Given the description of an element on the screen output the (x, y) to click on. 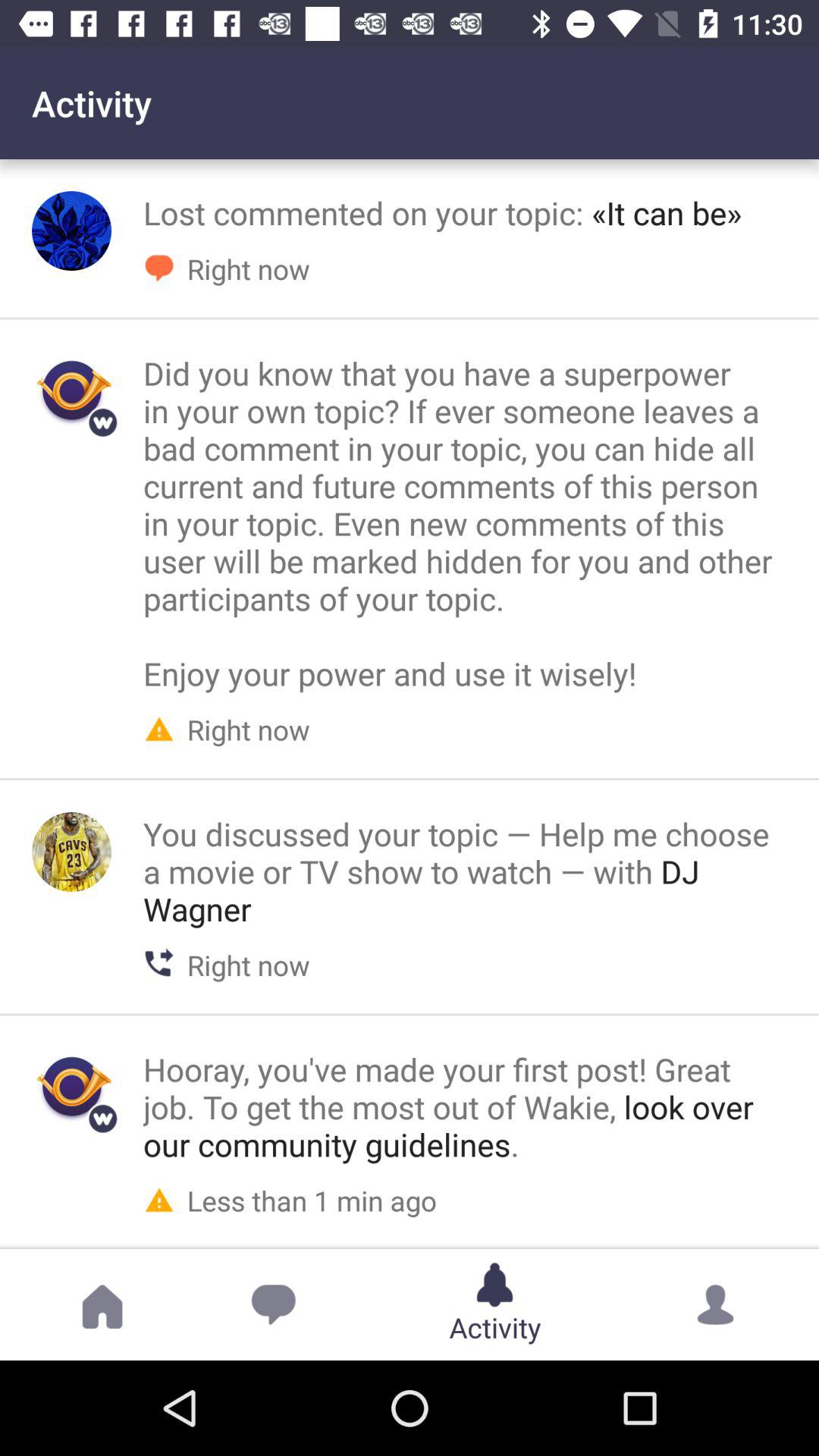
wakie comment (71, 1087)
